Given the description of an element on the screen output the (x, y) to click on. 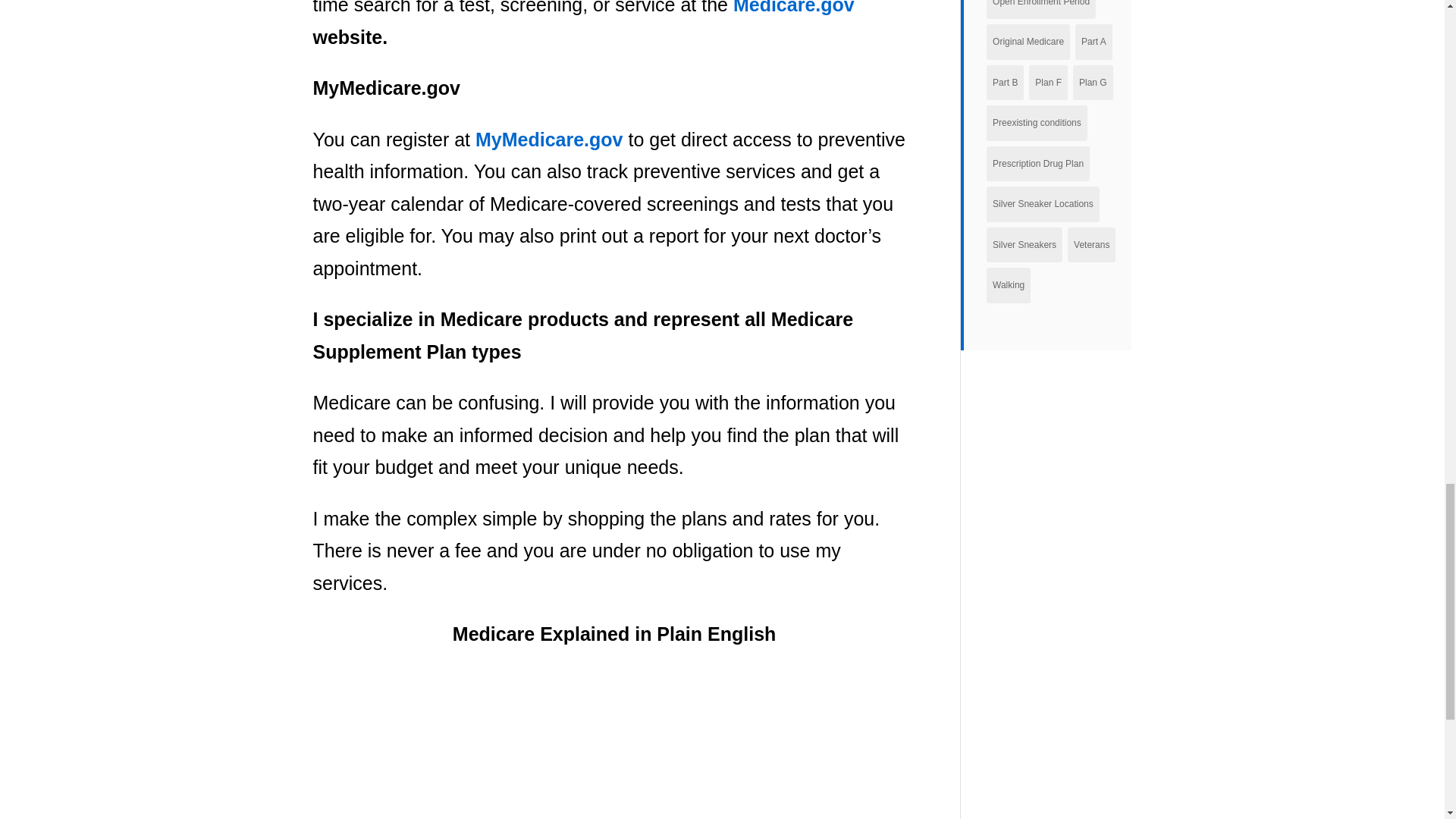
Preexisting conditions (1037, 122)
Plan F (1048, 82)
Veterans (1091, 244)
Part B (1005, 82)
Part A (1093, 41)
Silver Sneaker Locations (1043, 203)
Silver Sneakers (1024, 244)
Medicare.gov (793, 7)
Plan G (1093, 82)
MyMedicare.gov (549, 138)
